Given the description of an element on the screen output the (x, y) to click on. 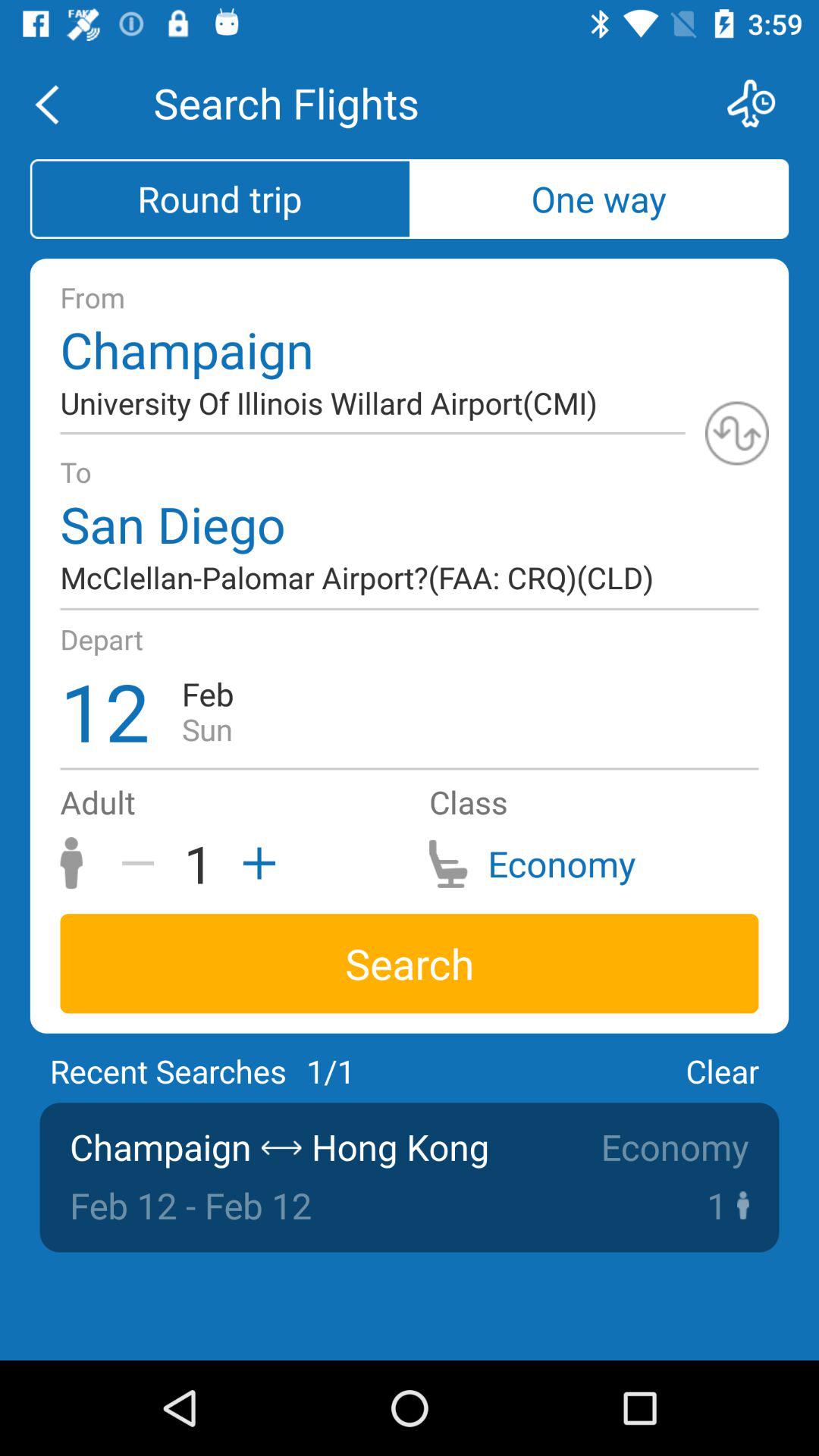
search option (761, 102)
